Given the description of an element on the screen output the (x, y) to click on. 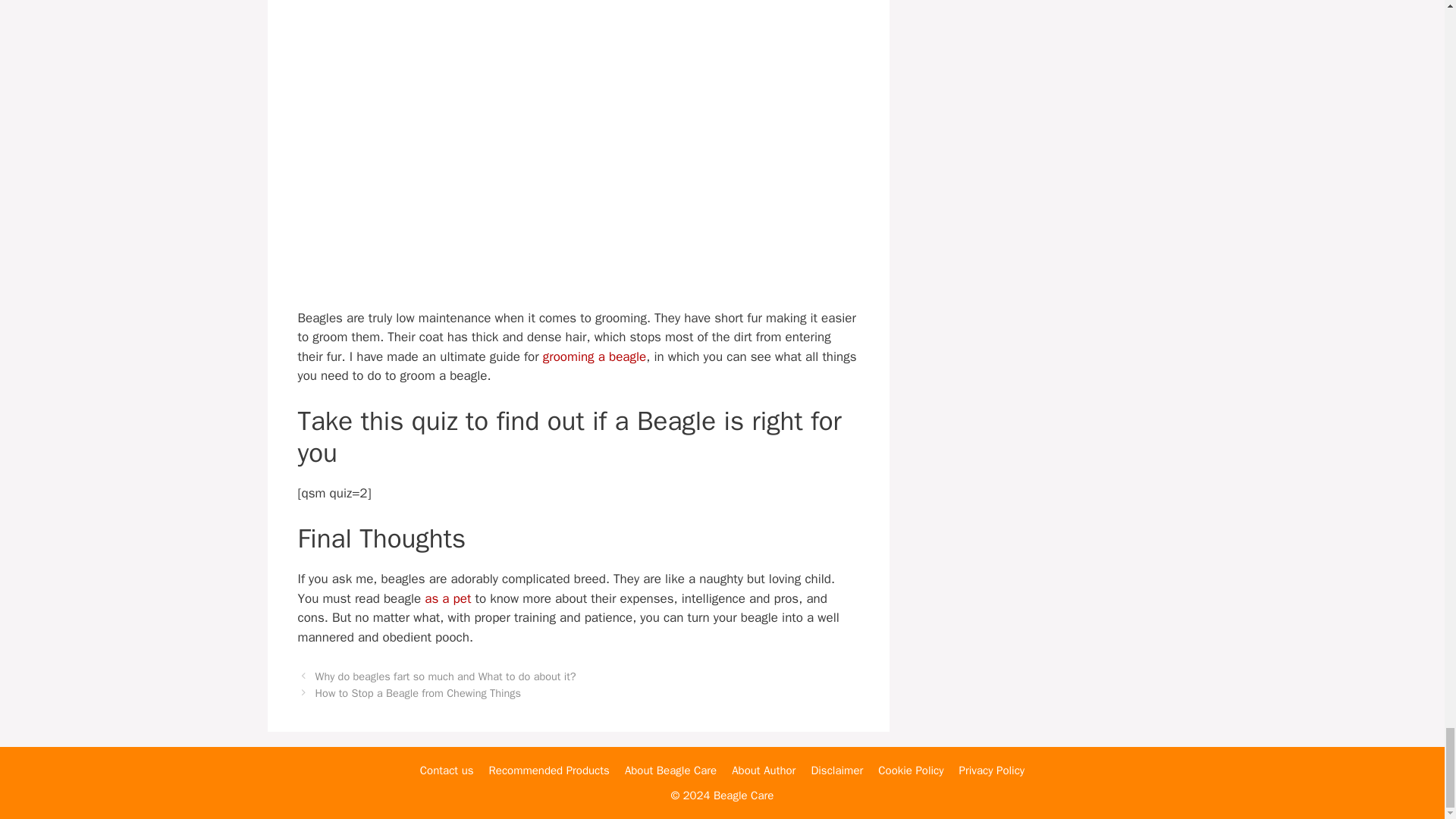
Why do beagles fart so much and What to do about it? (445, 676)
as a pet (445, 598)
grooming a beagle (594, 356)
